Given the description of an element on the screen output the (x, y) to click on. 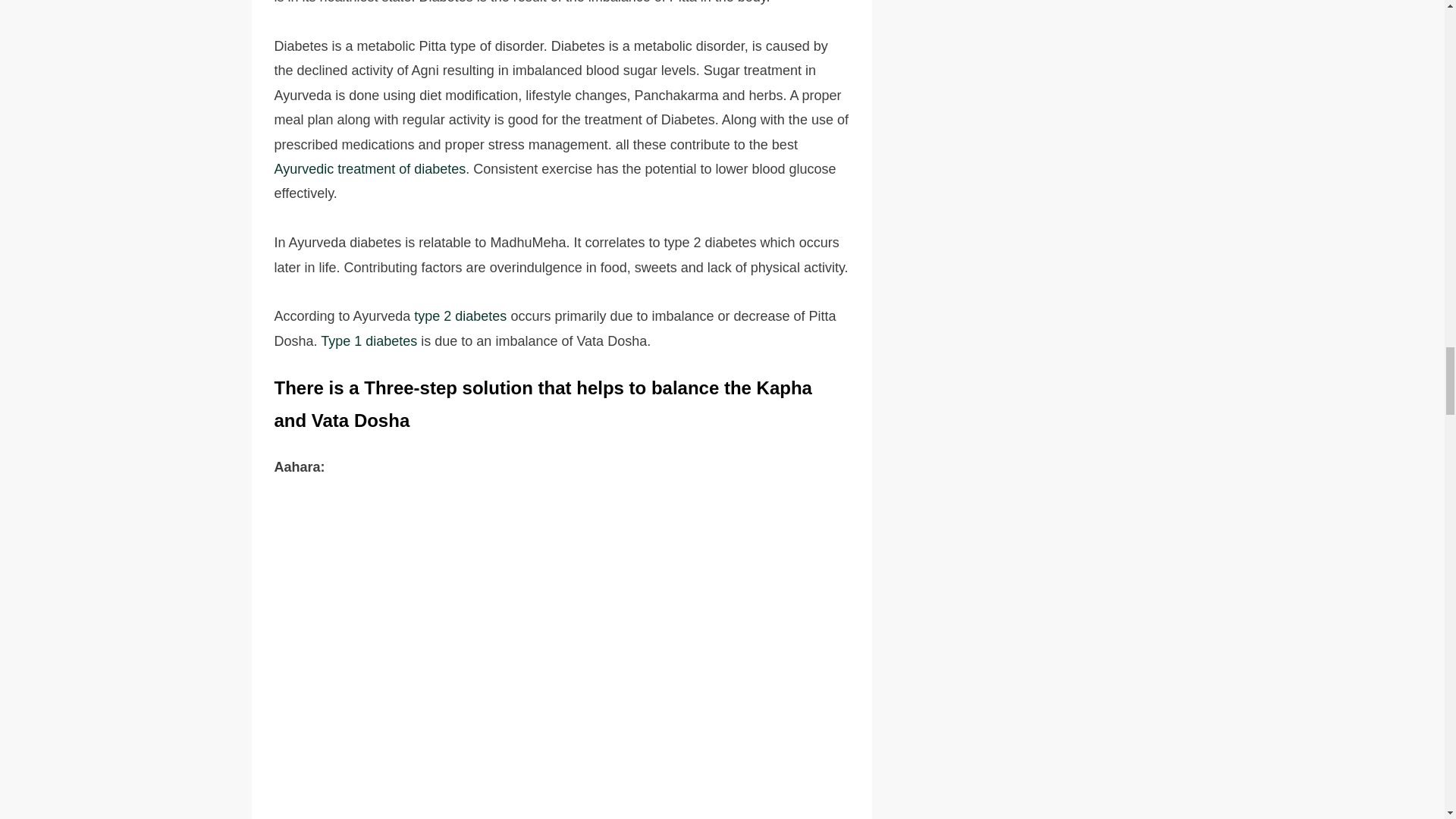
type 2 diabetes (459, 315)
Type 1 diabetes (368, 340)
Ayurvedic treatment of diabetes (370, 168)
